Given the description of an element on the screen output the (x, y) to click on. 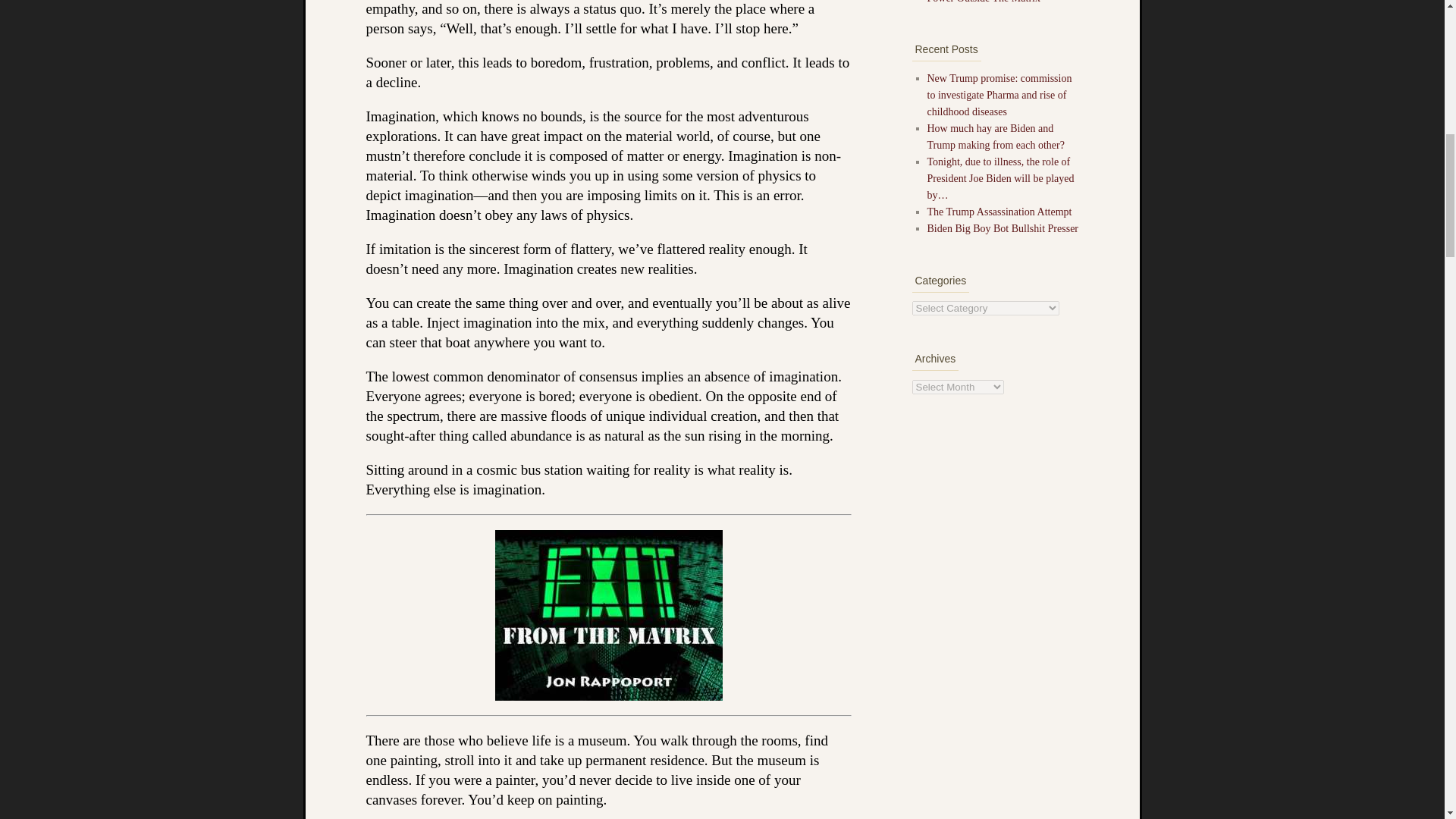
Exit From the Matrix (607, 615)
